Given the description of an element on the screen output the (x, y) to click on. 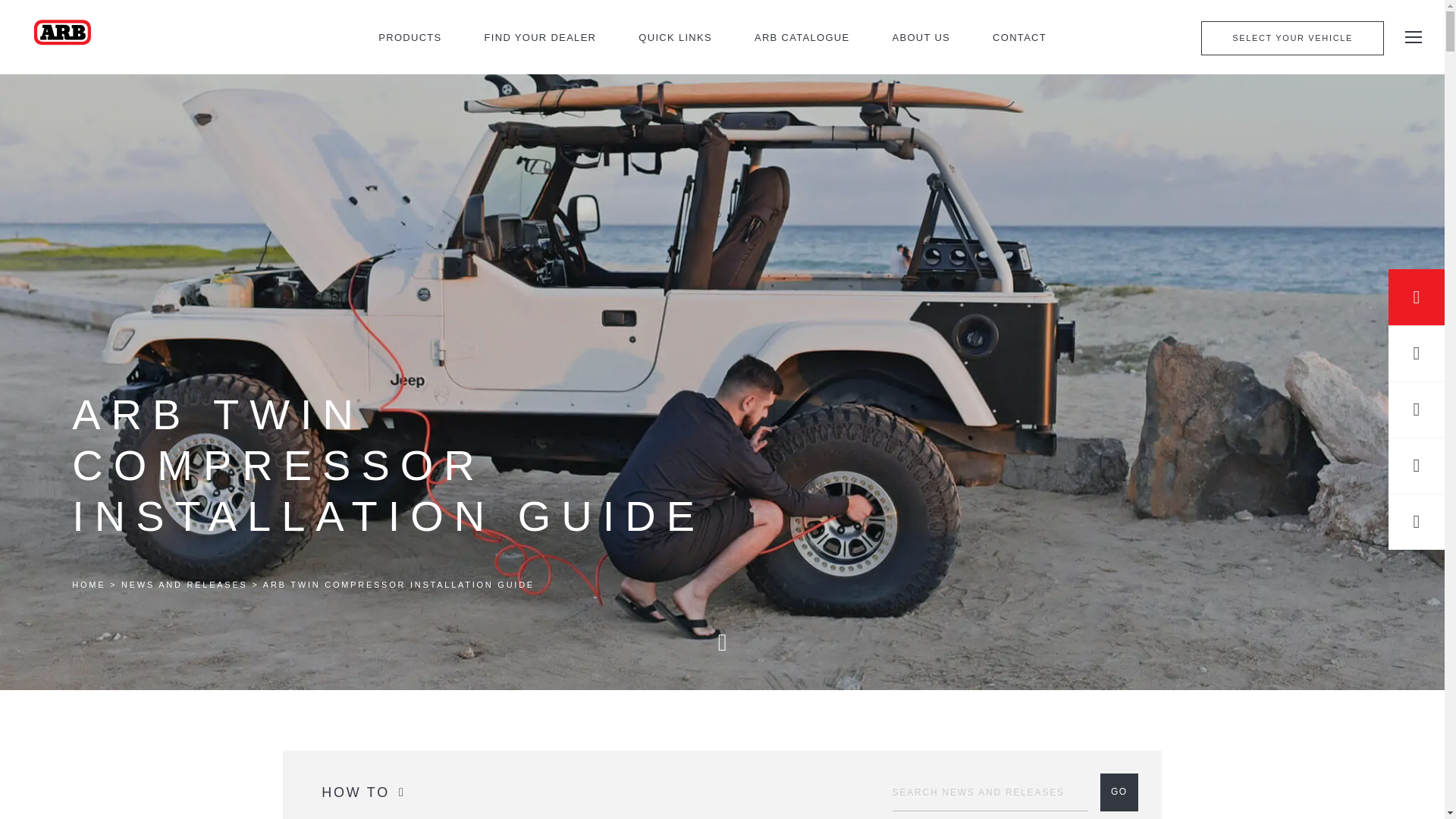
ARB - 4x4 Accessories (62, 36)
Go (1119, 792)
Search News and Releases (989, 792)
